Given the description of an element on the screen output the (x, y) to click on. 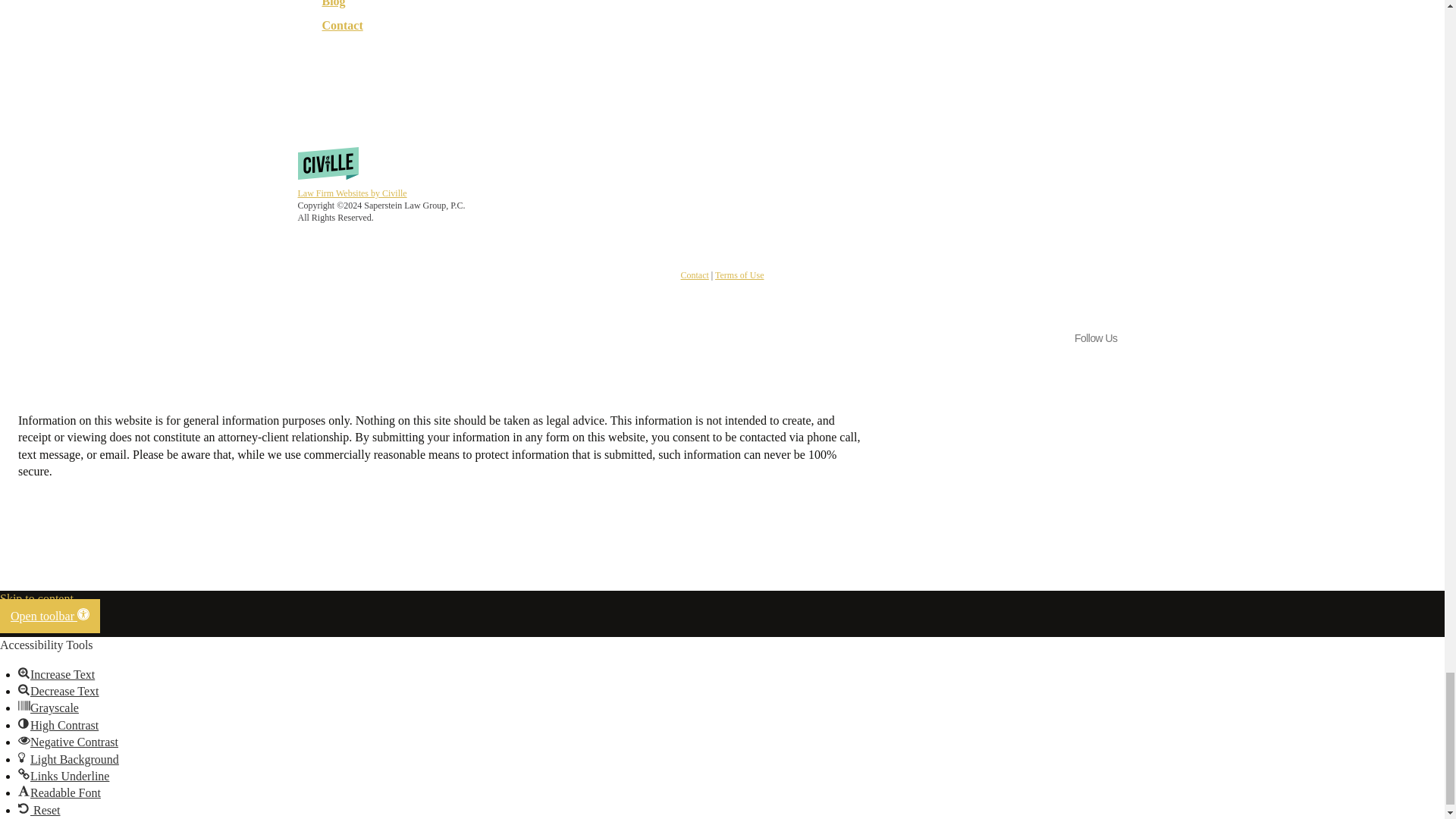
Law Firm Websites by Civille (351, 193)
Accessibility Tools (82, 613)
Links Underline (23, 774)
Negative Contrast (23, 739)
Grayscale (23, 705)
Contact (695, 275)
Readable Font (23, 790)
Contact (341, 25)
Blog (332, 5)
Terms of Use (738, 275)
Increase Text (23, 672)
Decrease Text (23, 689)
Reset (23, 808)
Light Background (23, 756)
Accessibility Tools (50, 615)
